Given the description of an element on the screen output the (x, y) to click on. 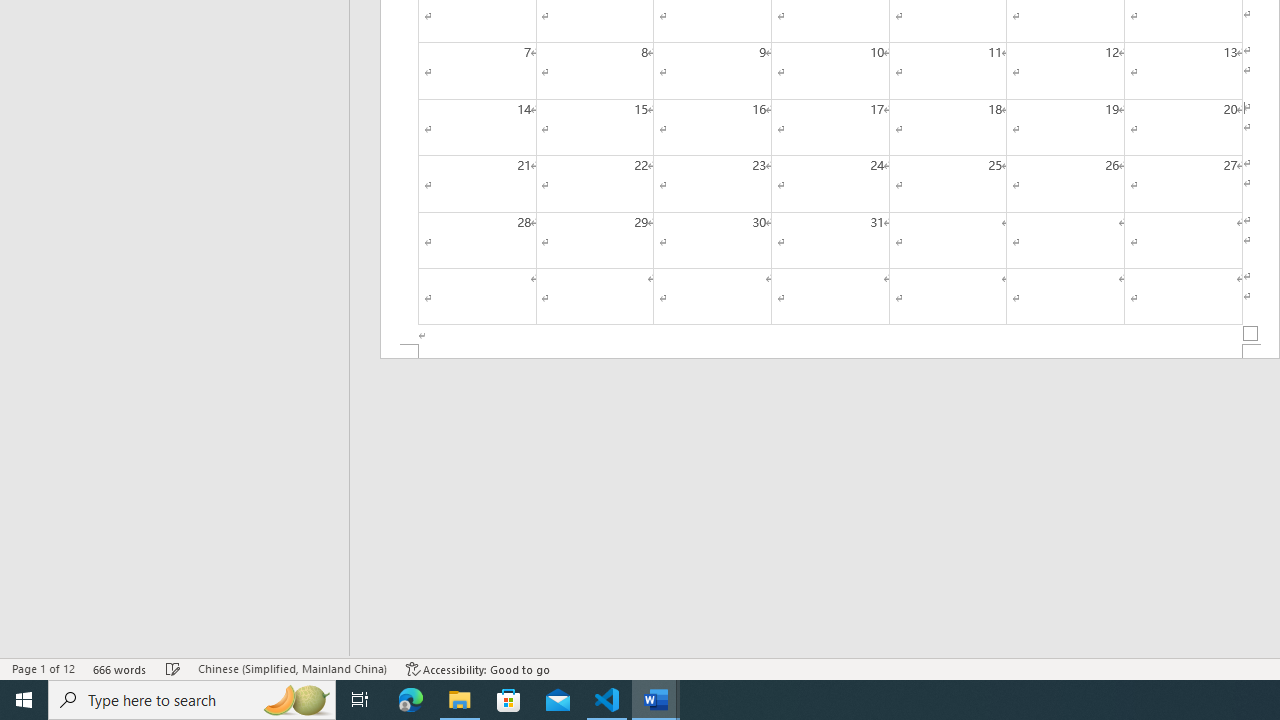
Word Count 666 words (119, 668)
Accessibility Checker Accessibility: Good to go (478, 668)
Spelling and Grammar Check Checking (173, 668)
Footer -Section 1- (830, 351)
Language Chinese (Simplified, Mainland China) (292, 668)
Page Number Page 1 of 12 (43, 668)
